Given the description of an element on the screen output the (x, y) to click on. 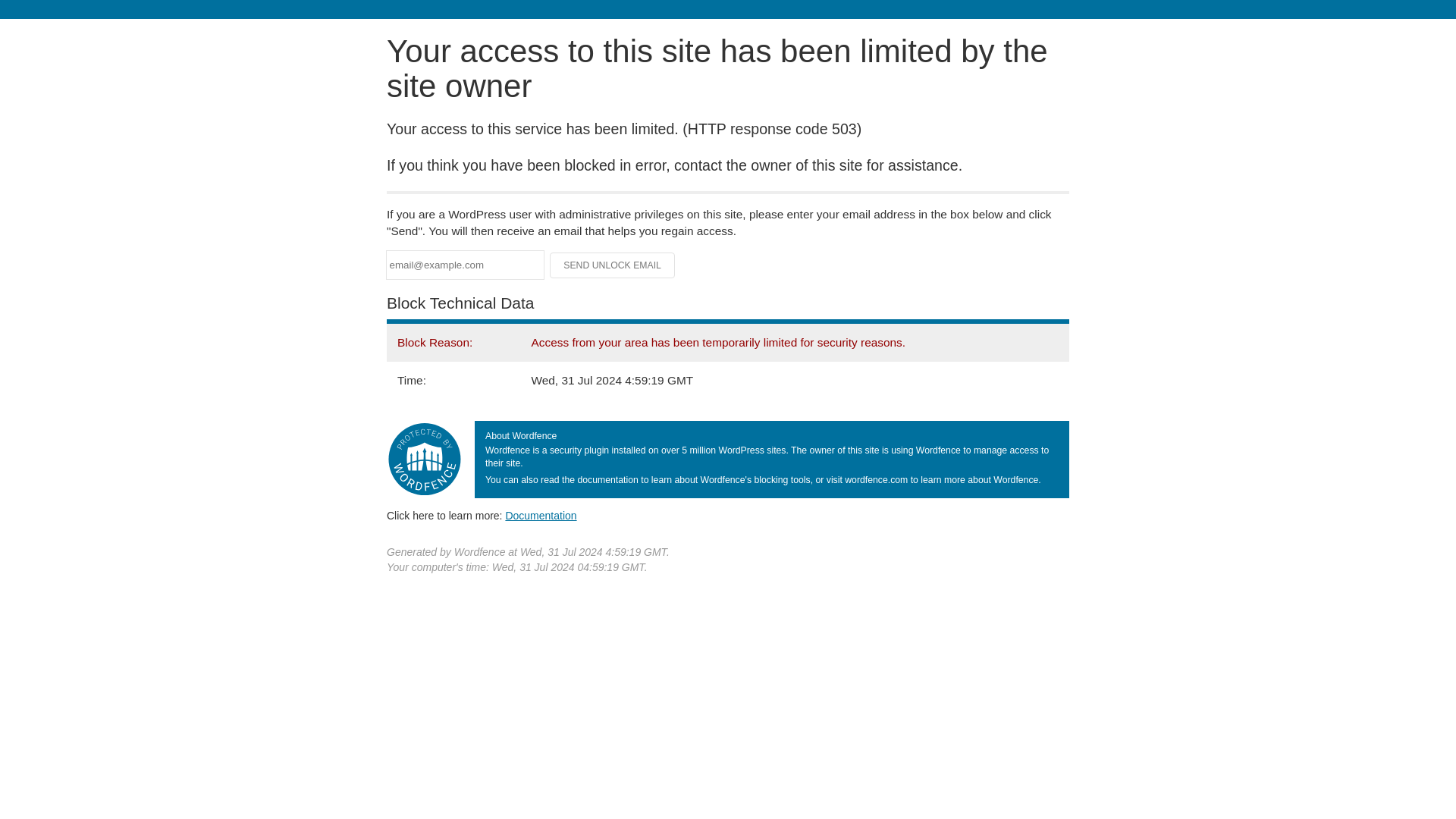
Send Unlock Email (612, 265)
Send Unlock Email (612, 265)
Documentation (540, 515)
